Given the description of an element on the screen output the (x, y) to click on. 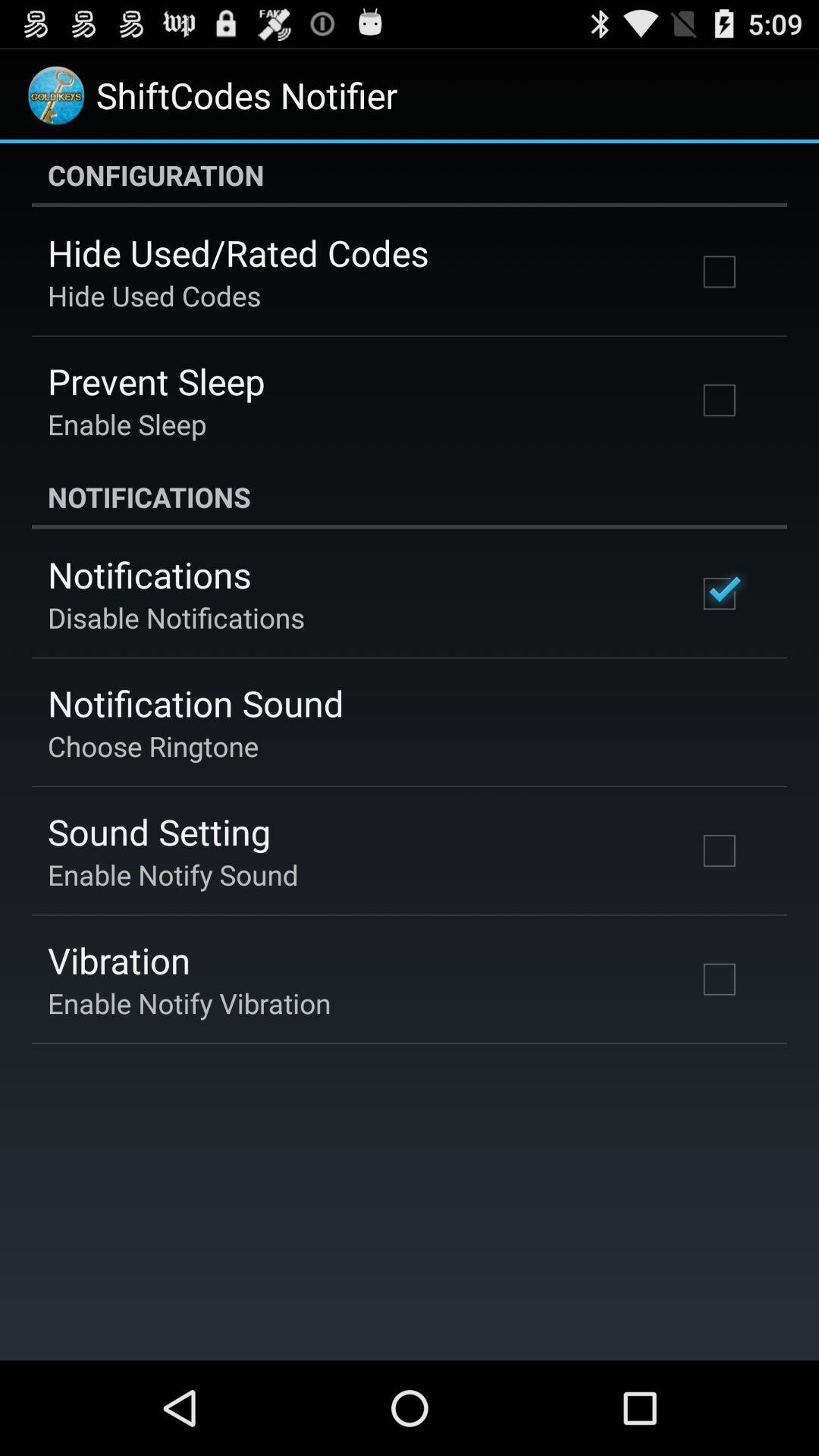
choose icon above the enable sleep (156, 381)
